Given the description of an element on the screen output the (x, y) to click on. 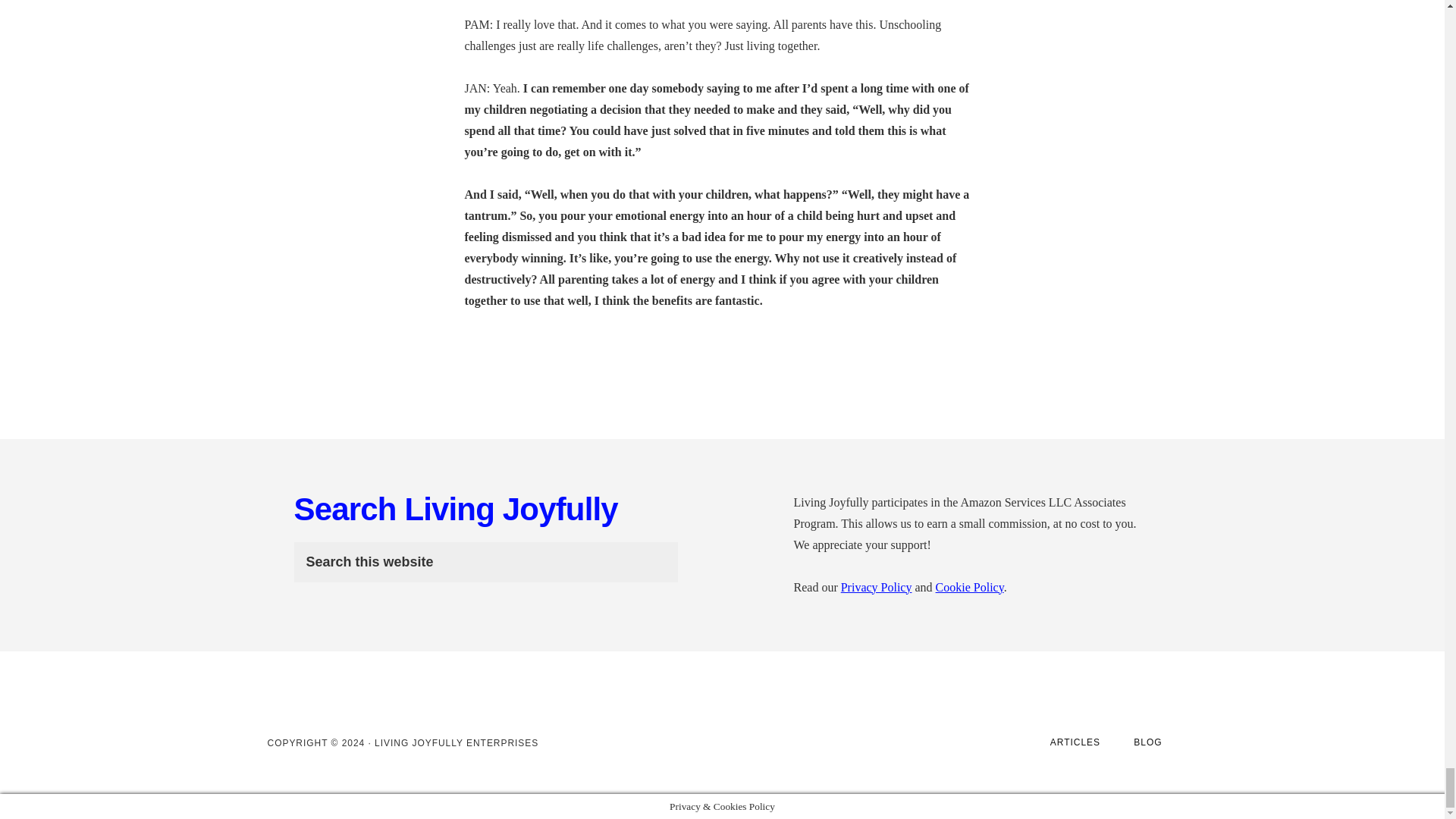
ARTICLES (1075, 742)
Privacy Policy (876, 586)
BLOG (1147, 742)
Cookie Policy (970, 586)
